Given the description of an element on the screen output the (x, y) to click on. 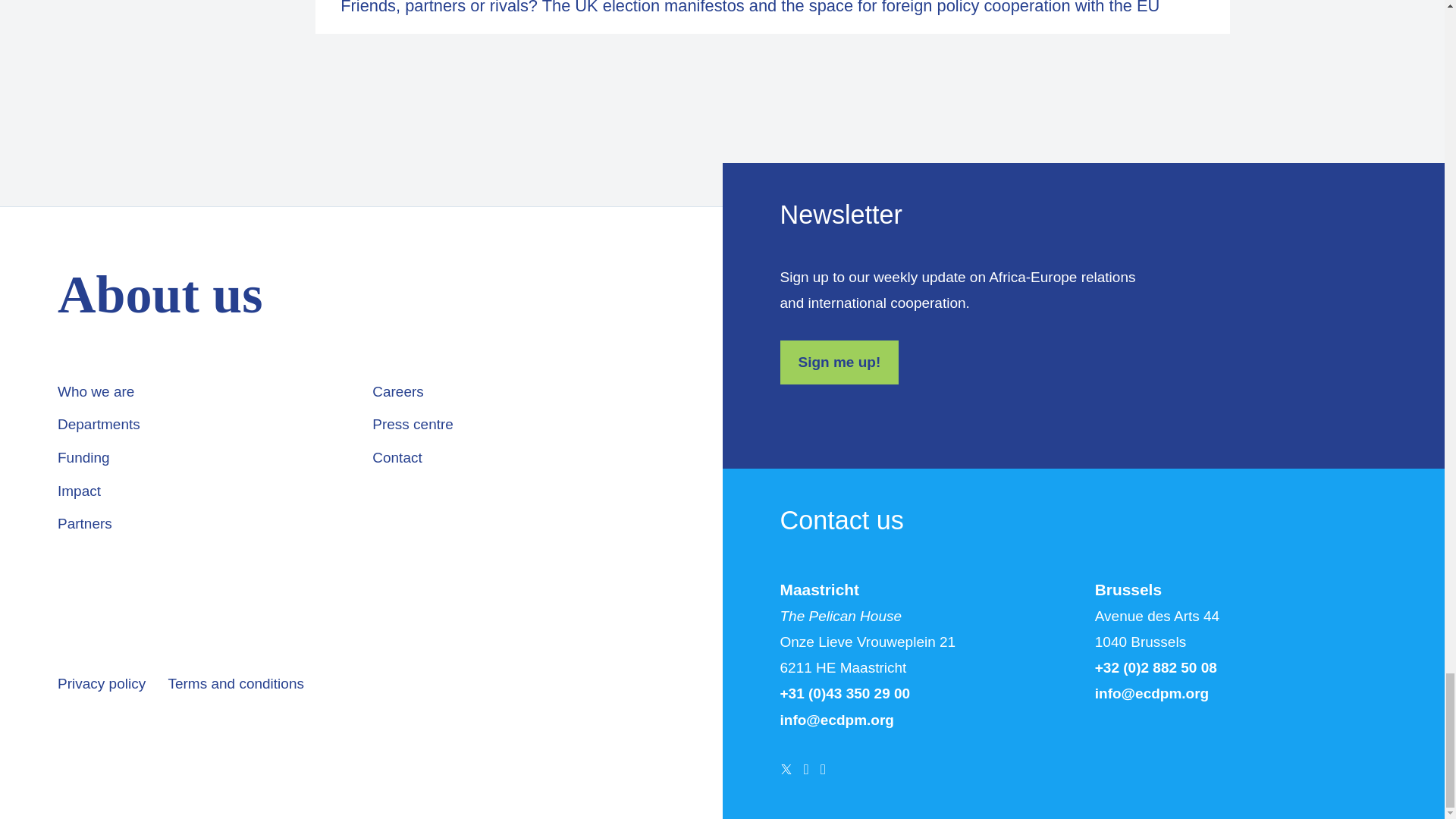
Facebook (806, 769)
LinkedIn (823, 769)
